Given the description of an element on the screen output the (x, y) to click on. 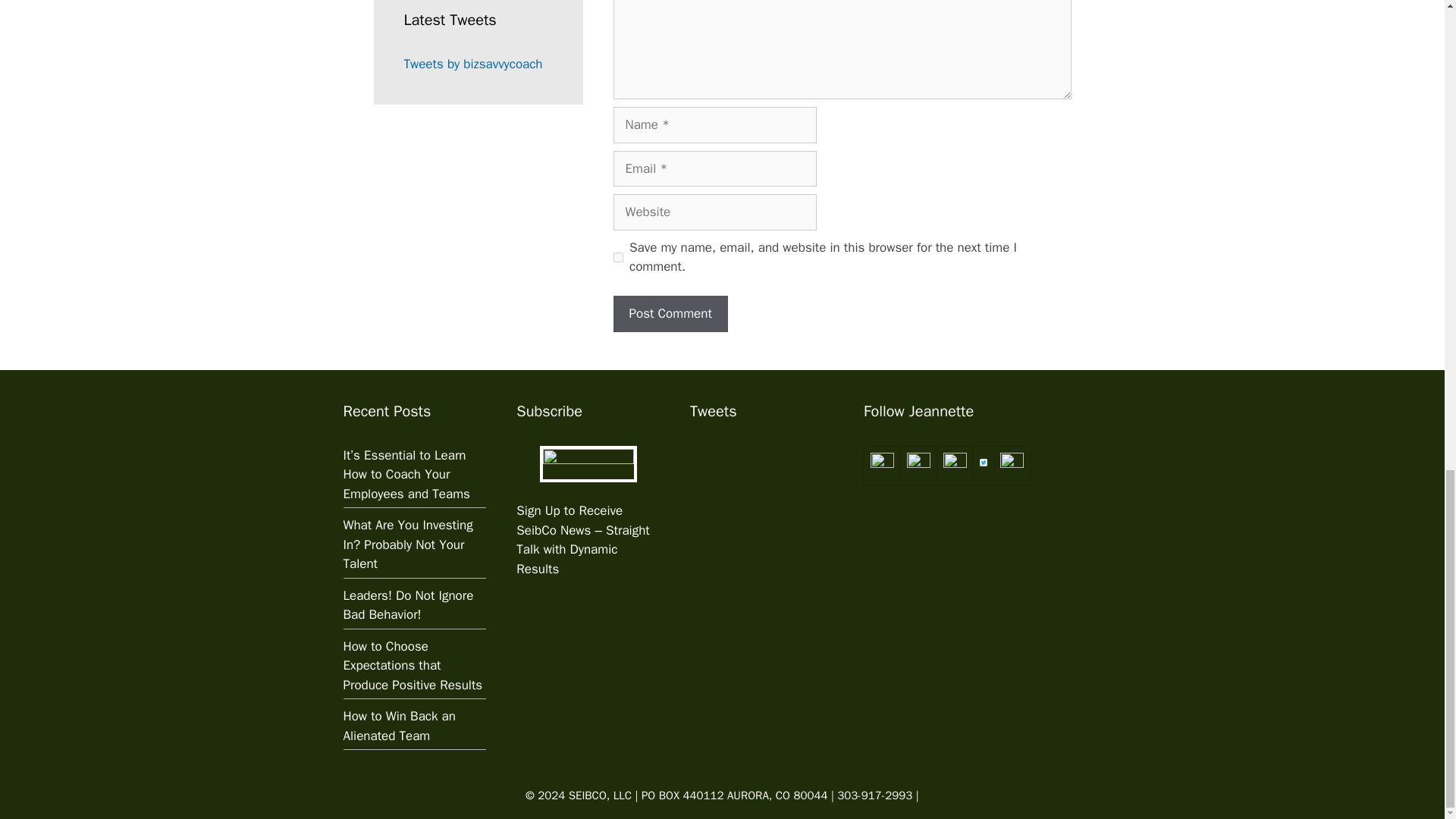
Post Comment (669, 313)
yes (617, 257)
Scroll back to top (1406, 427)
